Given the description of an element on the screen output the (x, y) to click on. 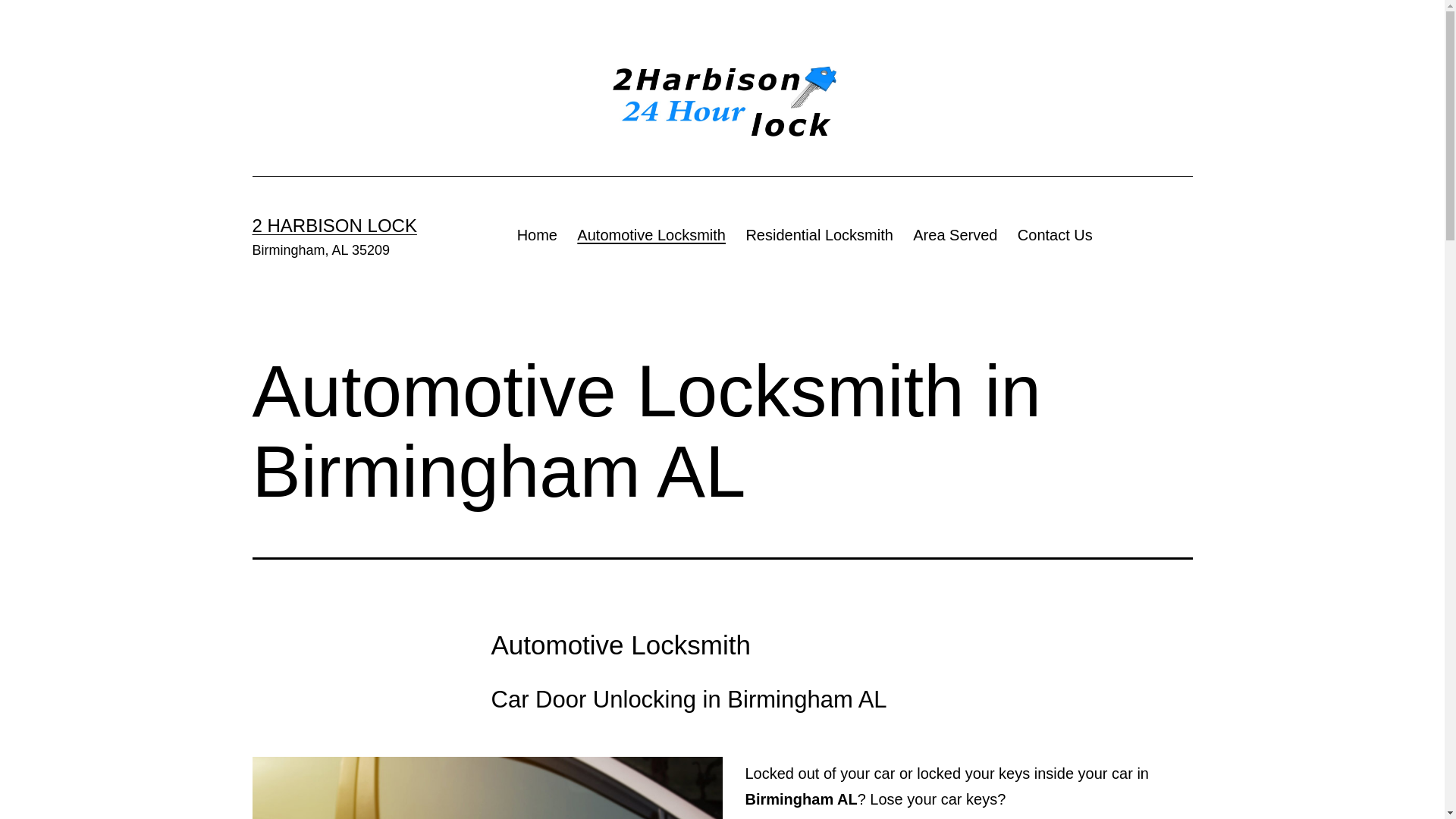
Contact Us Element type: text (1054, 235)
2 HARBISON LOCK Element type: text (333, 225)
Automotive Locksmith Element type: text (651, 235)
Residential Locksmith Element type: text (819, 235)
Home Element type: text (536, 235)
Area Served Element type: text (955, 235)
